Given the description of an element on the screen output the (x, y) to click on. 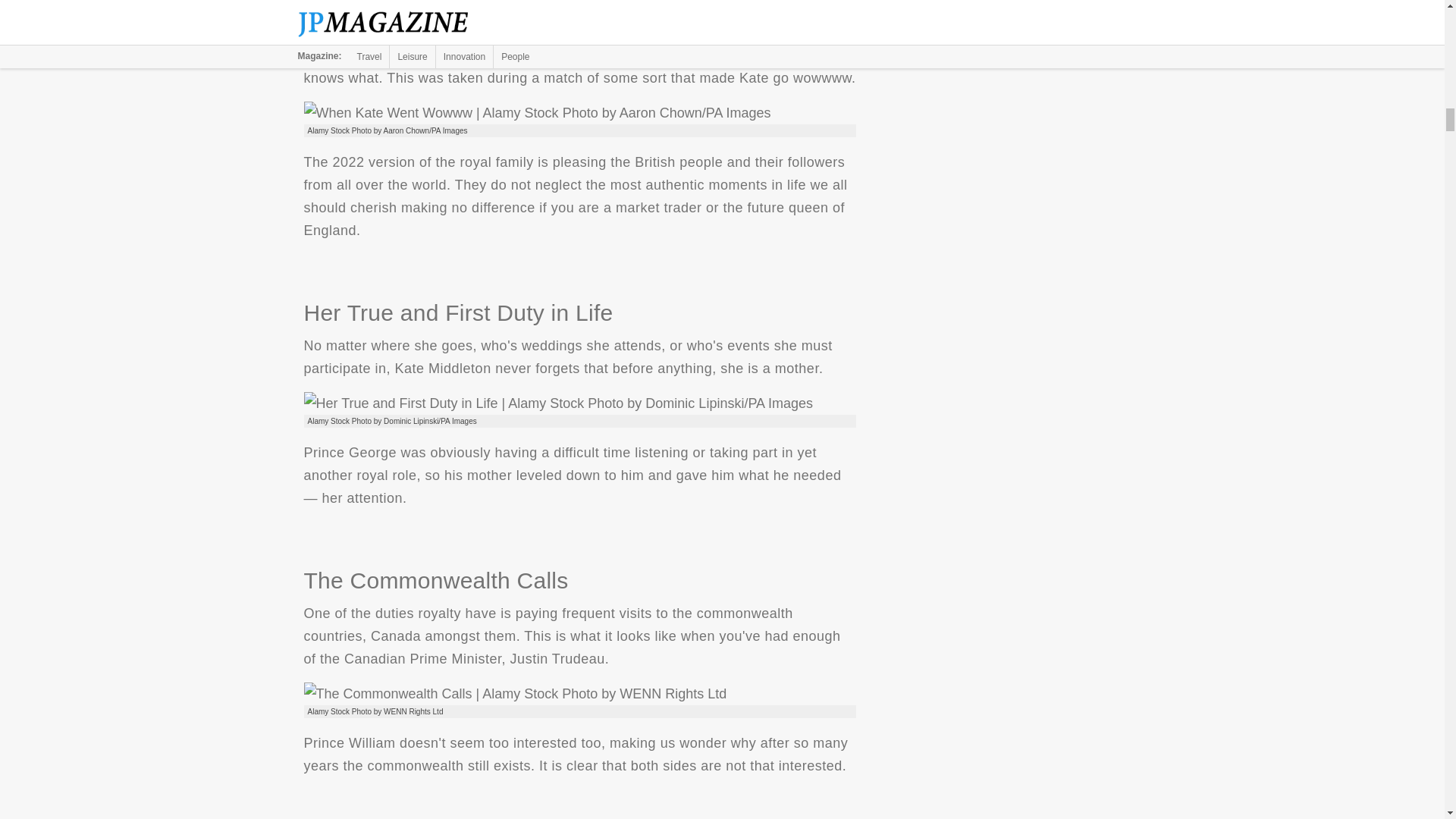
When Kate Went Wowww (536, 112)
Her True and First Duty in Life (557, 403)
The Commonwealth Calls (514, 693)
